Given the description of an element on the screen output the (x, y) to click on. 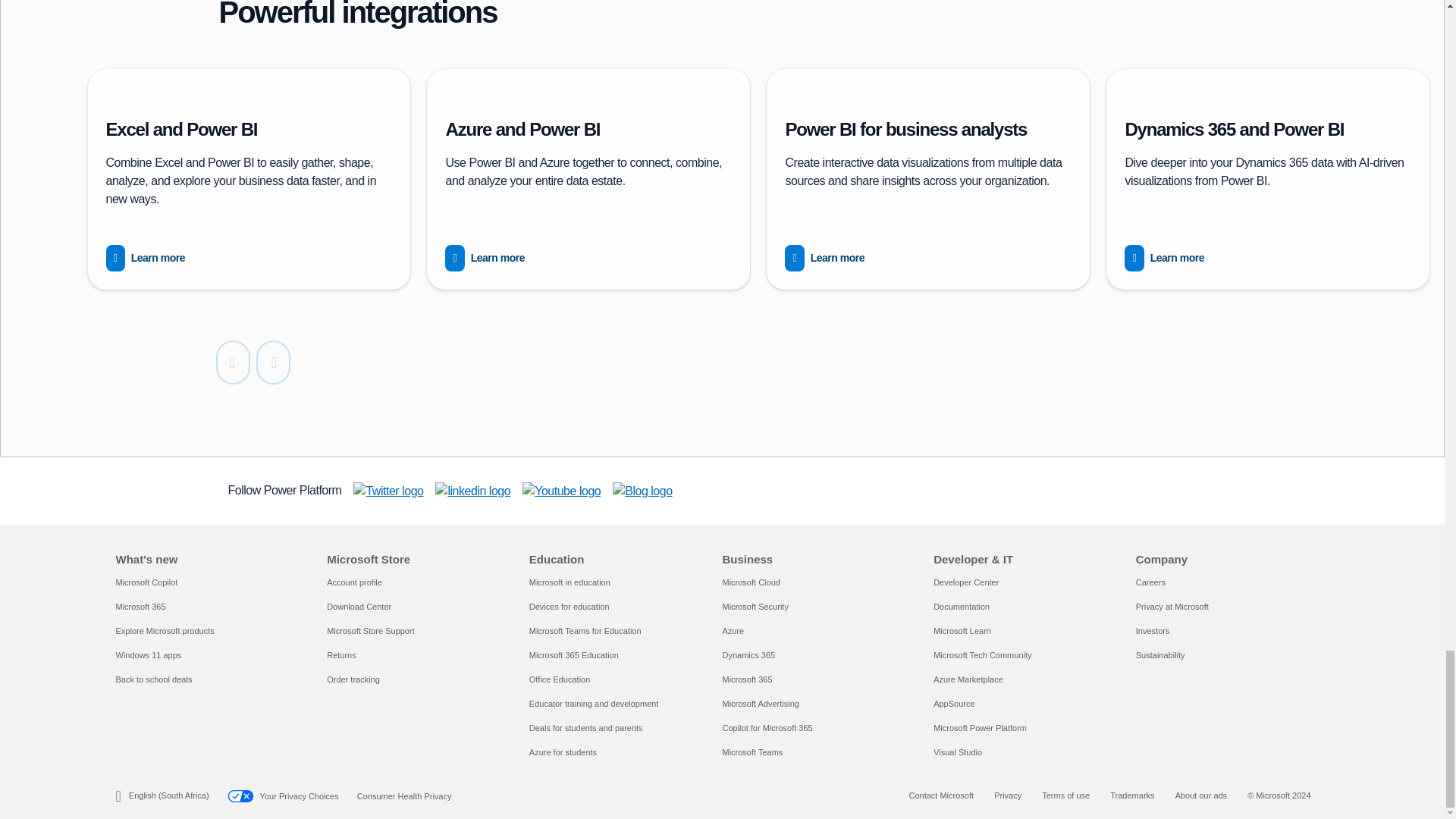
Blog (641, 491)
Youtube (560, 491)
Linkedin (473, 491)
Twitter (388, 491)
